Given the description of an element on the screen output the (x, y) to click on. 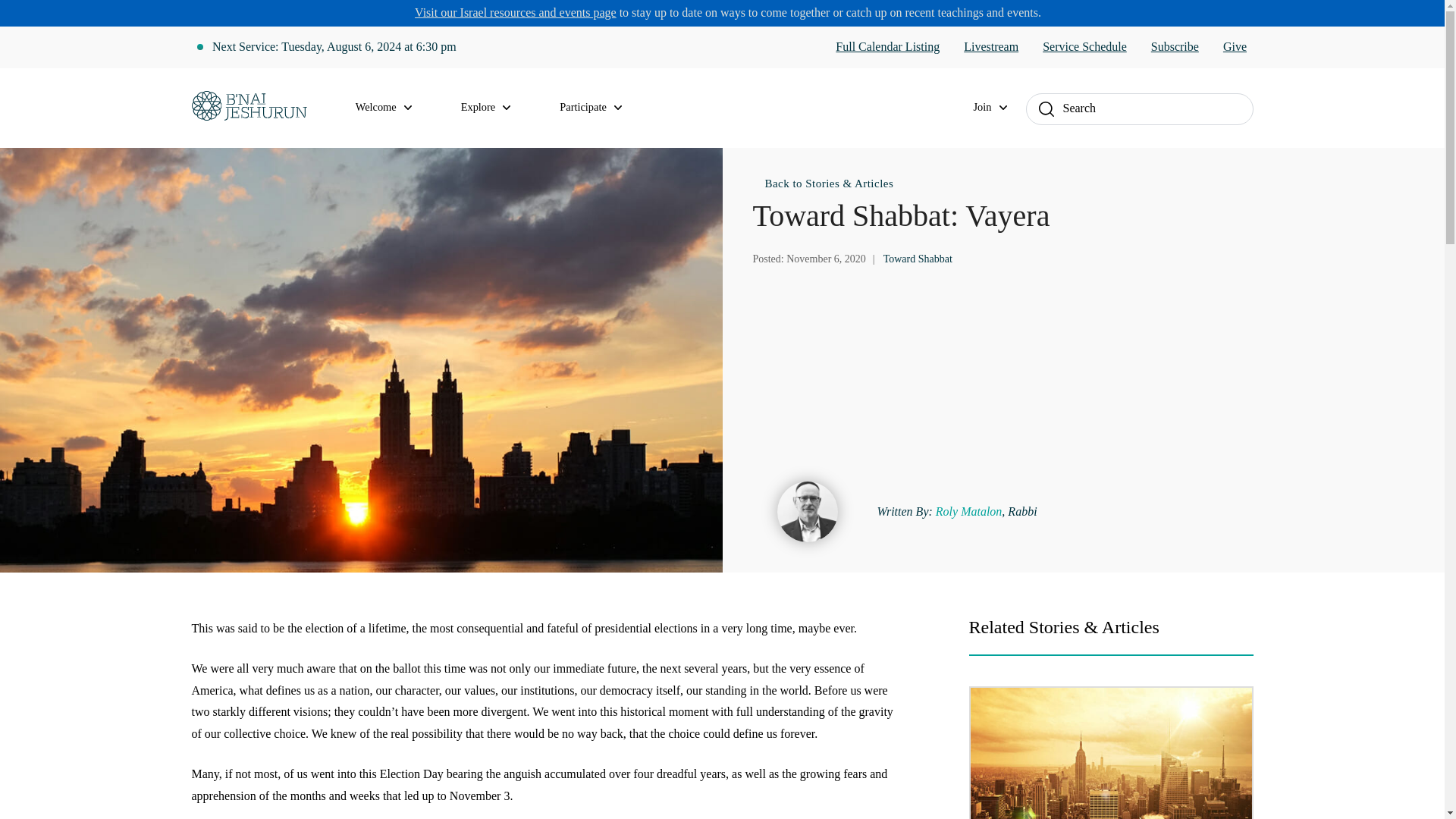
Full Calendar Listing (887, 47)
Next Service: Tuesday, August 6, 2024 at 6:30 pm (334, 47)
Service Schedule (1084, 47)
Visit our Israel resources and events page (514, 12)
Welcome (392, 107)
Livestream (990, 47)
Participate (599, 107)
Subscribe (1174, 47)
Give (1234, 47)
